Given the description of an element on the screen output the (x, y) to click on. 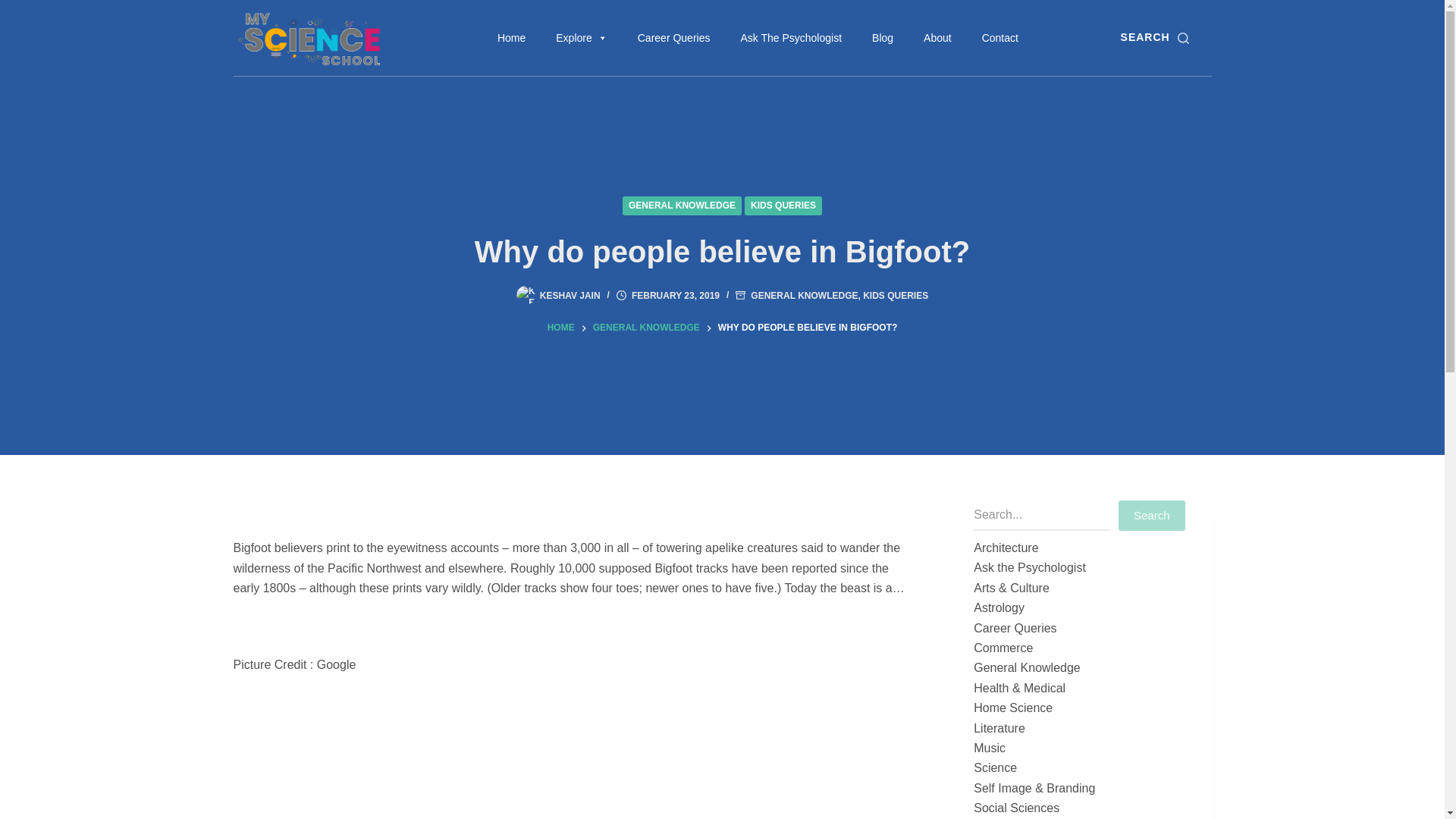
Skip to content (15, 7)
Posts by Keshav Jain (569, 295)
Why do people believe in Bigfoot? (722, 251)
